Given the description of an element on the screen output the (x, y) to click on. 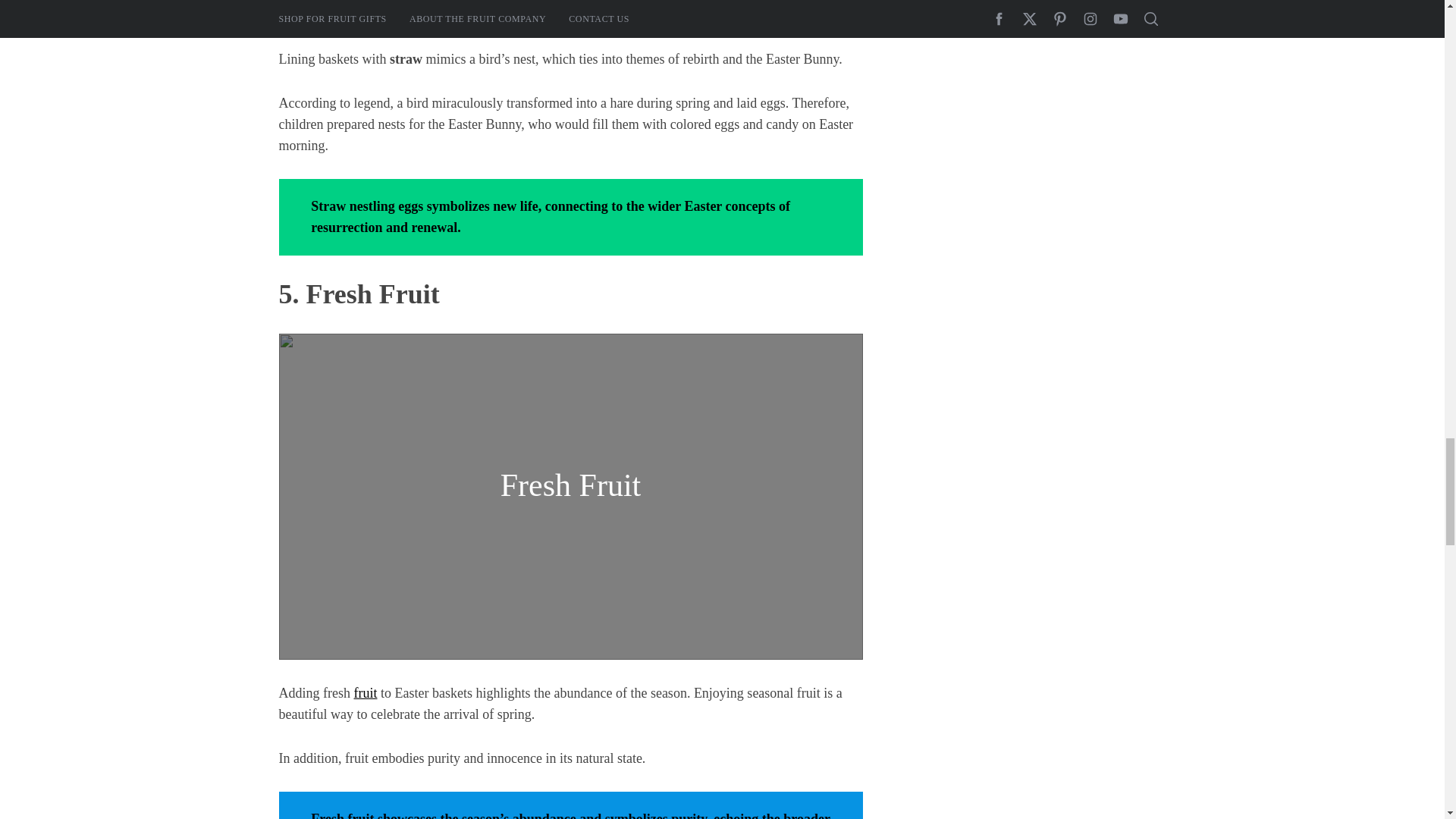
fruit (365, 693)
